Given the description of an element on the screen output the (x, y) to click on. 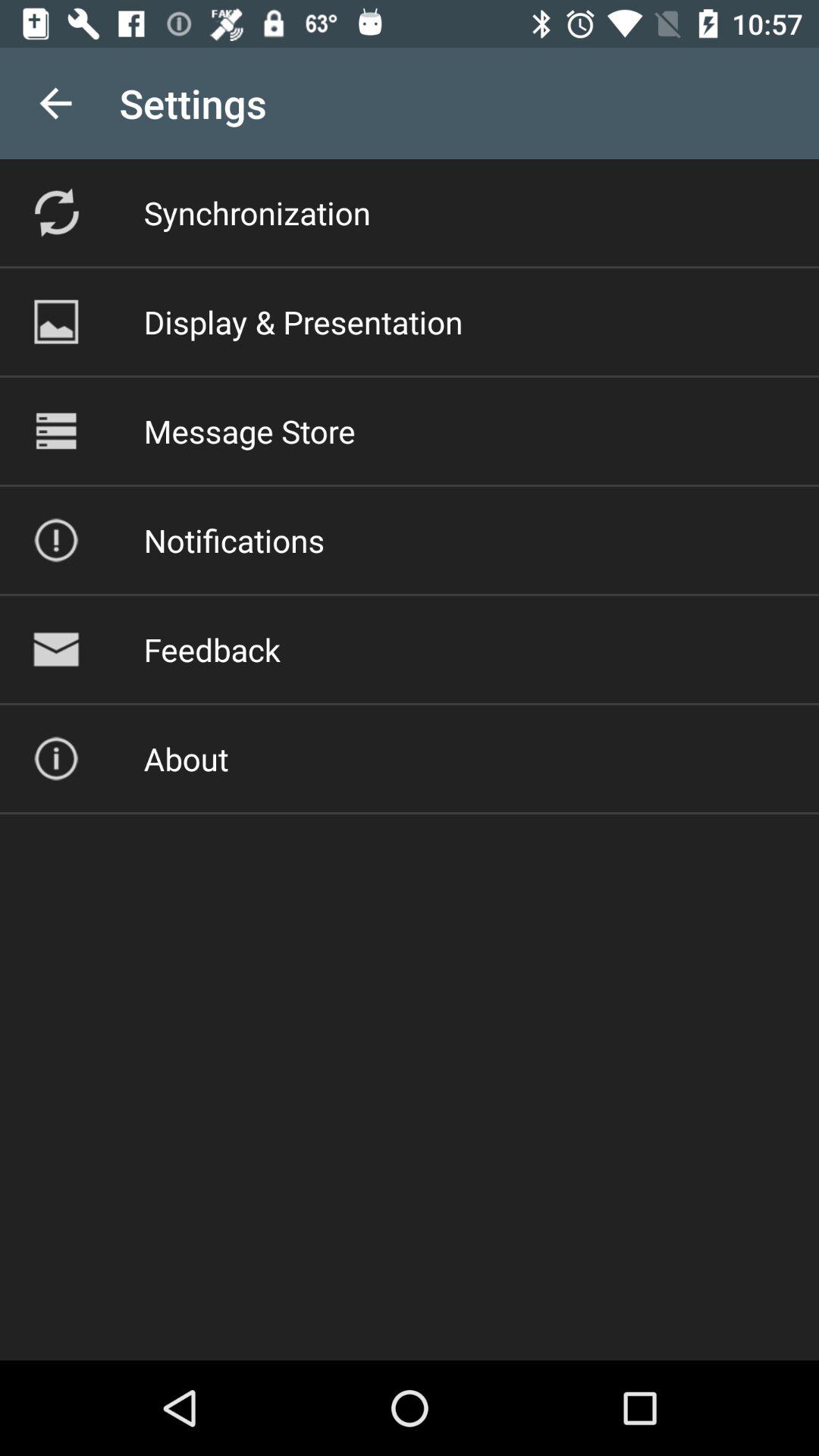
launch item above the display & presentation (256, 212)
